Given the description of an element on the screen output the (x, y) to click on. 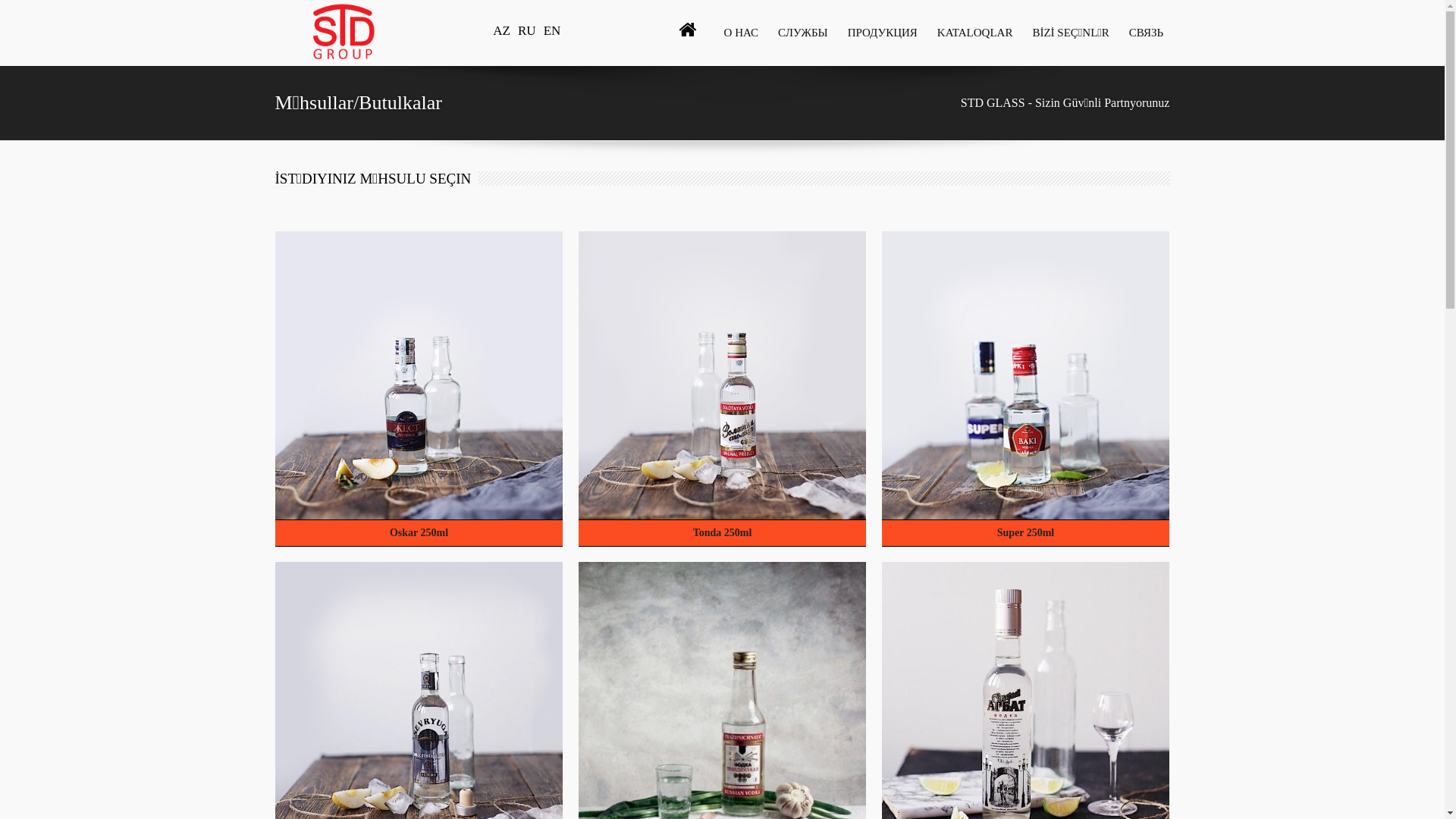
KATALOQLAR Element type: text (973, 32)
RU Element type: text (526, 30)
Tonda 250ml Element type: text (721, 532)
Oskar 250ml Element type: text (418, 532)
Super 250ml Element type: text (1025, 532)
AZ Element type: text (501, 30)
EN Element type: text (552, 30)
